Given the description of an element on the screen output the (x, y) to click on. 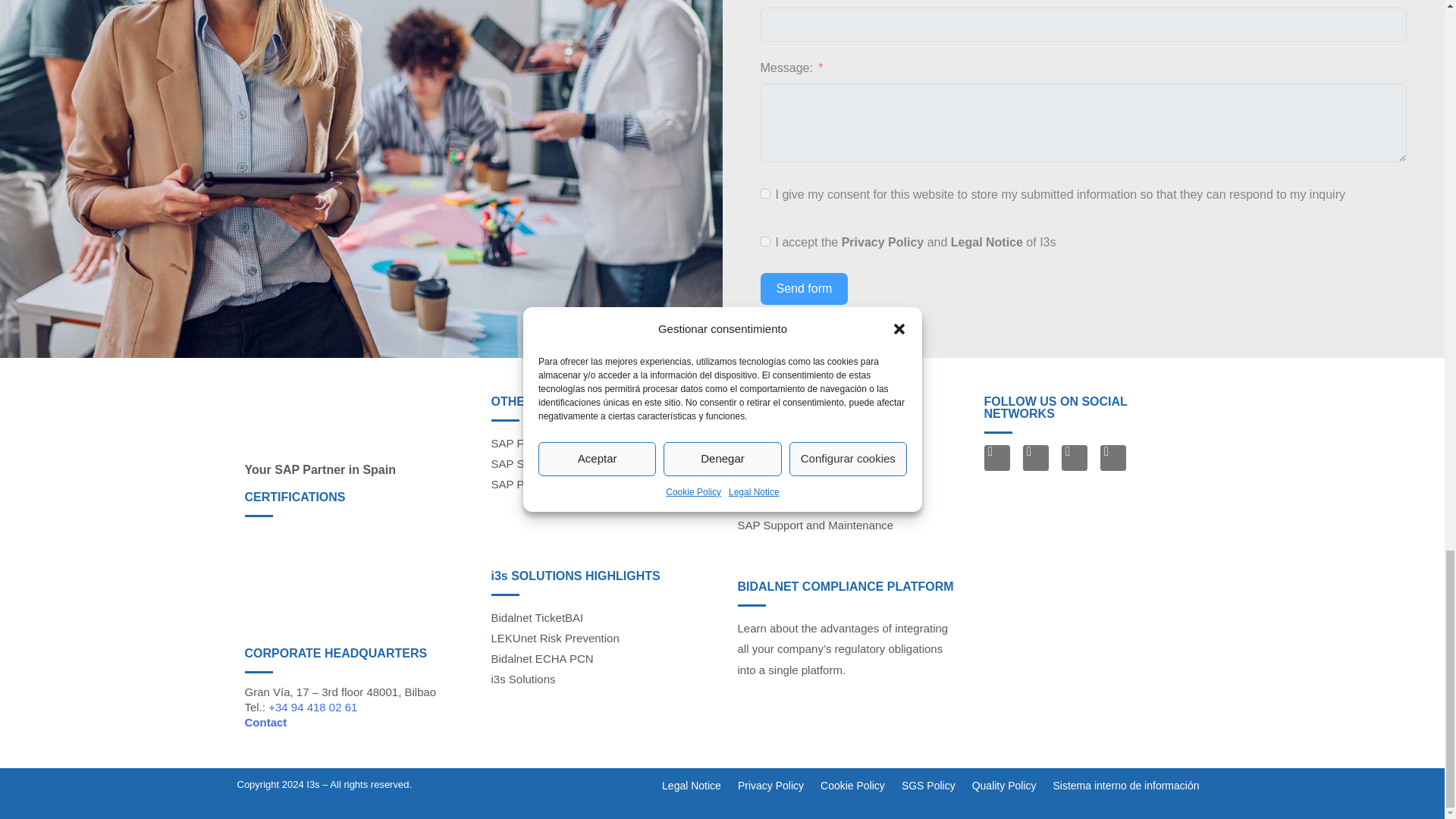
on (765, 241)
on (765, 194)
